Given the description of an element on the screen output the (x, y) to click on. 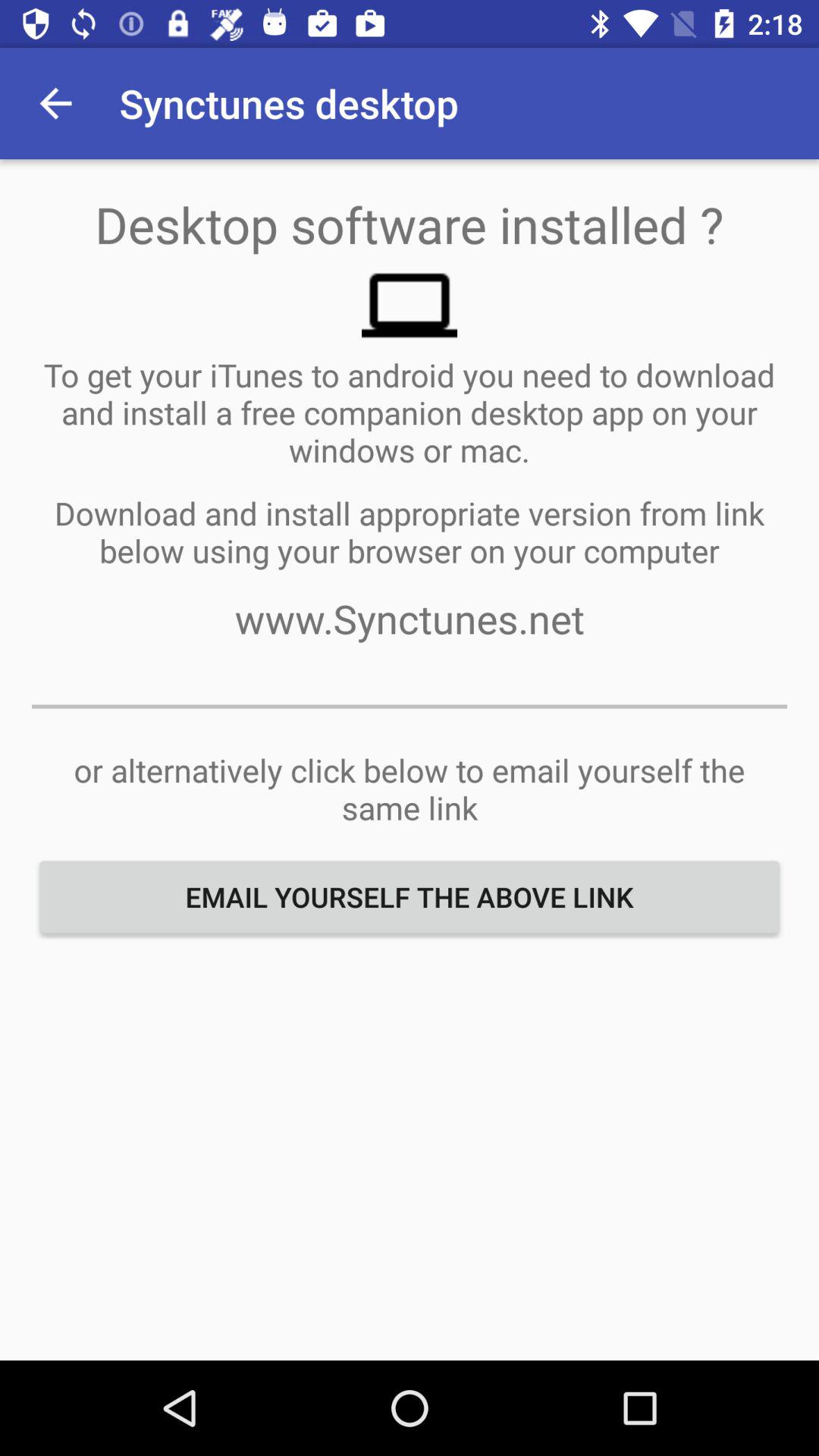
turn on icon next to the synctunes desktop app (55, 103)
